Given the description of an element on the screen output the (x, y) to click on. 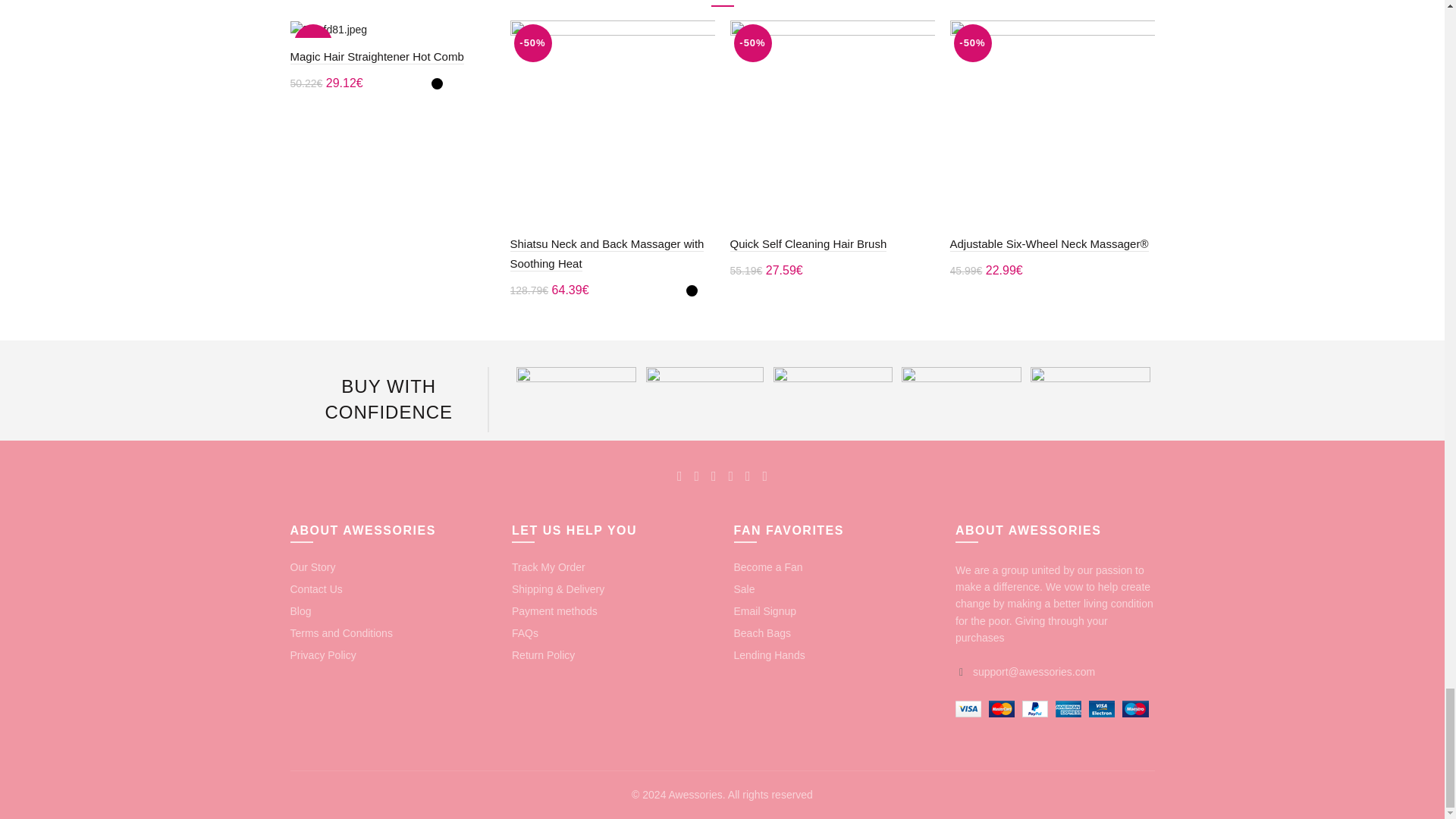
truste (704, 391)
confidence3 (832, 391)
google trusted store (576, 391)
confidence2 (961, 391)
confidence1 (1090, 391)
